Given the description of an element on the screen output the (x, y) to click on. 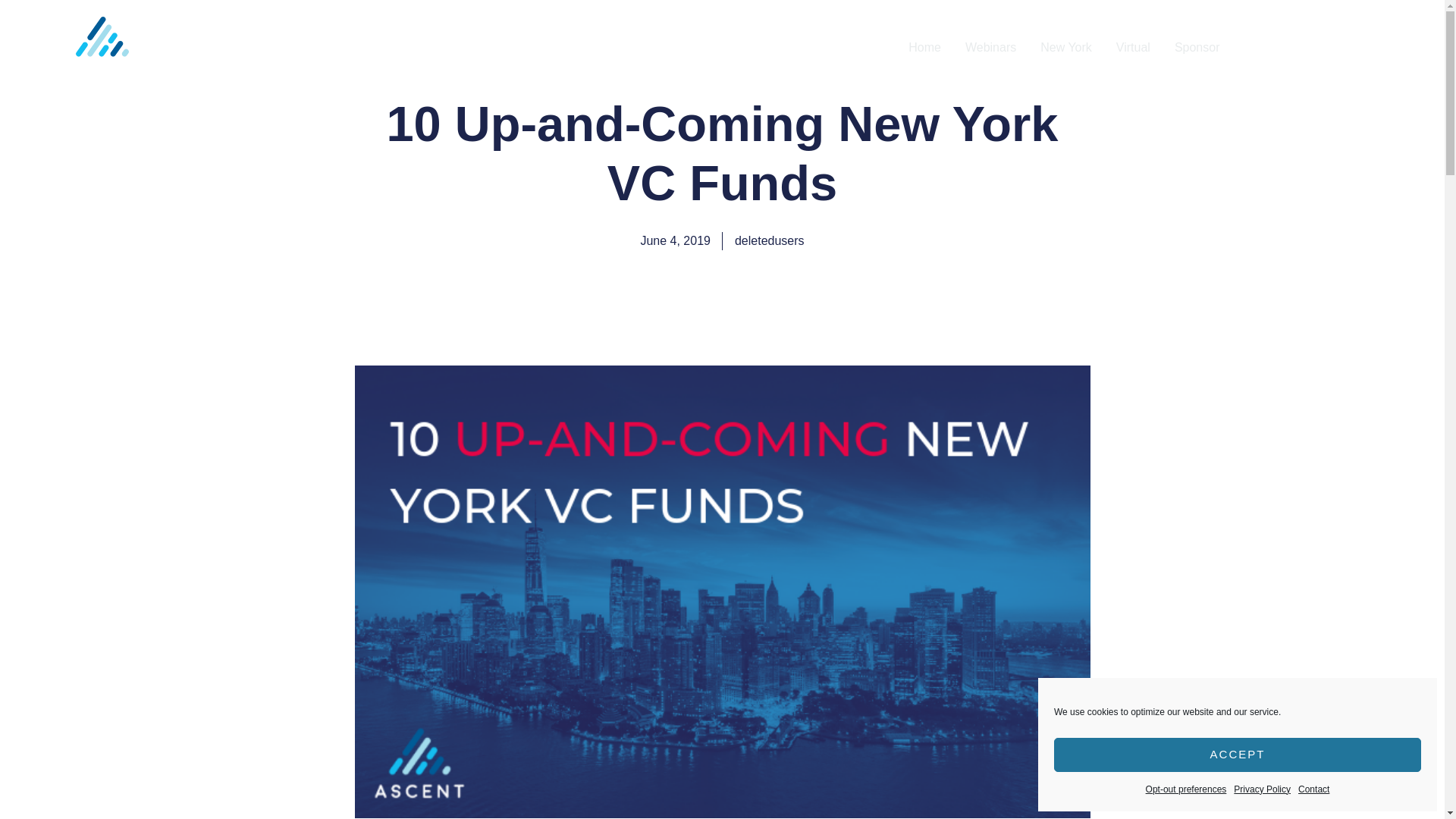
Webinars (990, 47)
June 4, 2019 (675, 240)
New York (1065, 47)
REGISTER NOW (1332, 47)
deletedusers (770, 240)
Privacy Policy (1261, 789)
ACCEPT (1237, 754)
Opt-out preferences (1186, 789)
Sponsor (1196, 47)
Virtual (1132, 47)
Contact (1313, 789)
Home (924, 47)
